Given the description of an element on the screen output the (x, y) to click on. 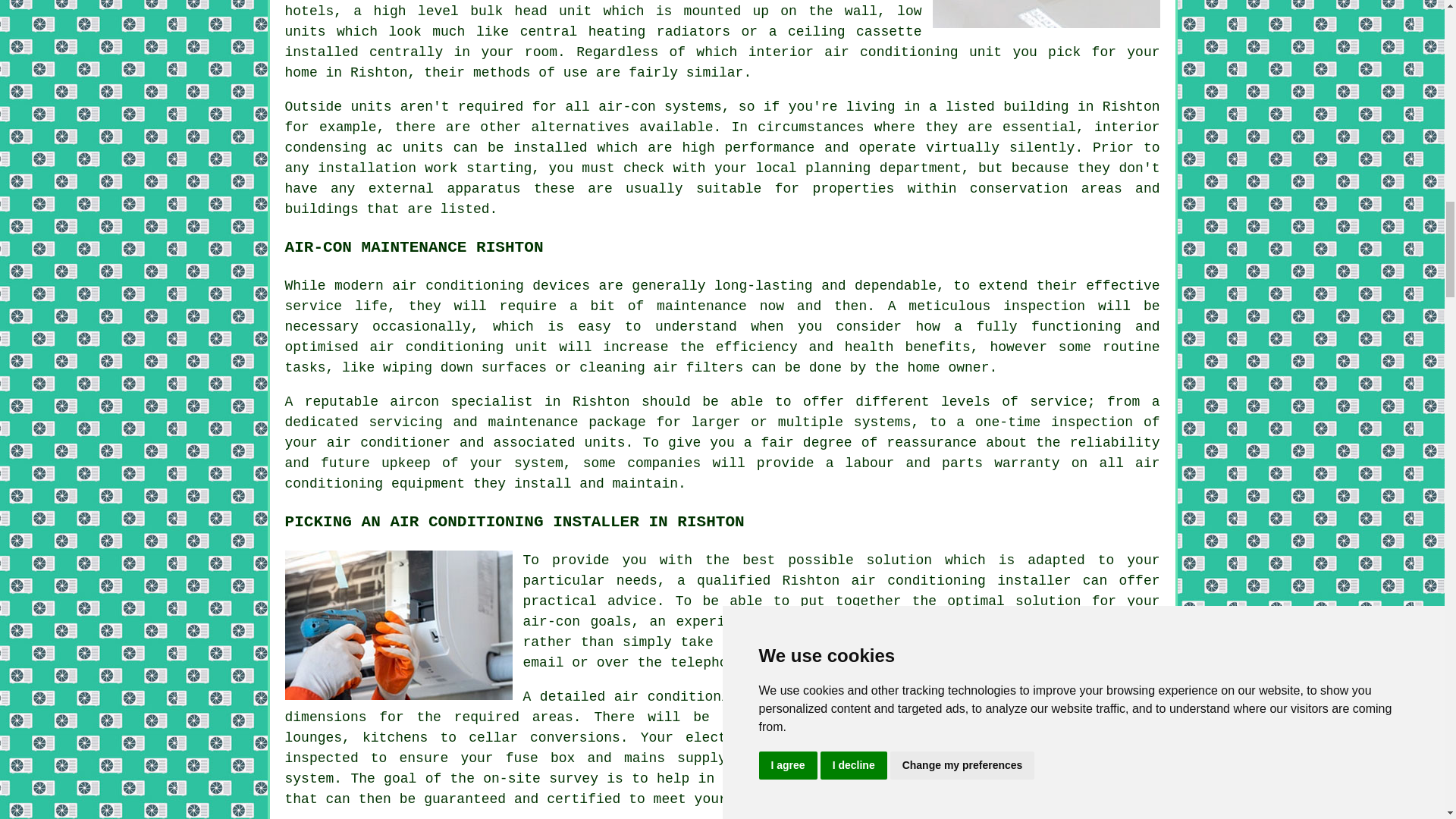
survey (1126, 621)
installation (366, 168)
levels of service (1013, 401)
Air Conditioning Near Rishton Lancashire (1046, 13)
air conditioning (918, 580)
maintenance (701, 305)
